Given the description of an element on the screen output the (x, y) to click on. 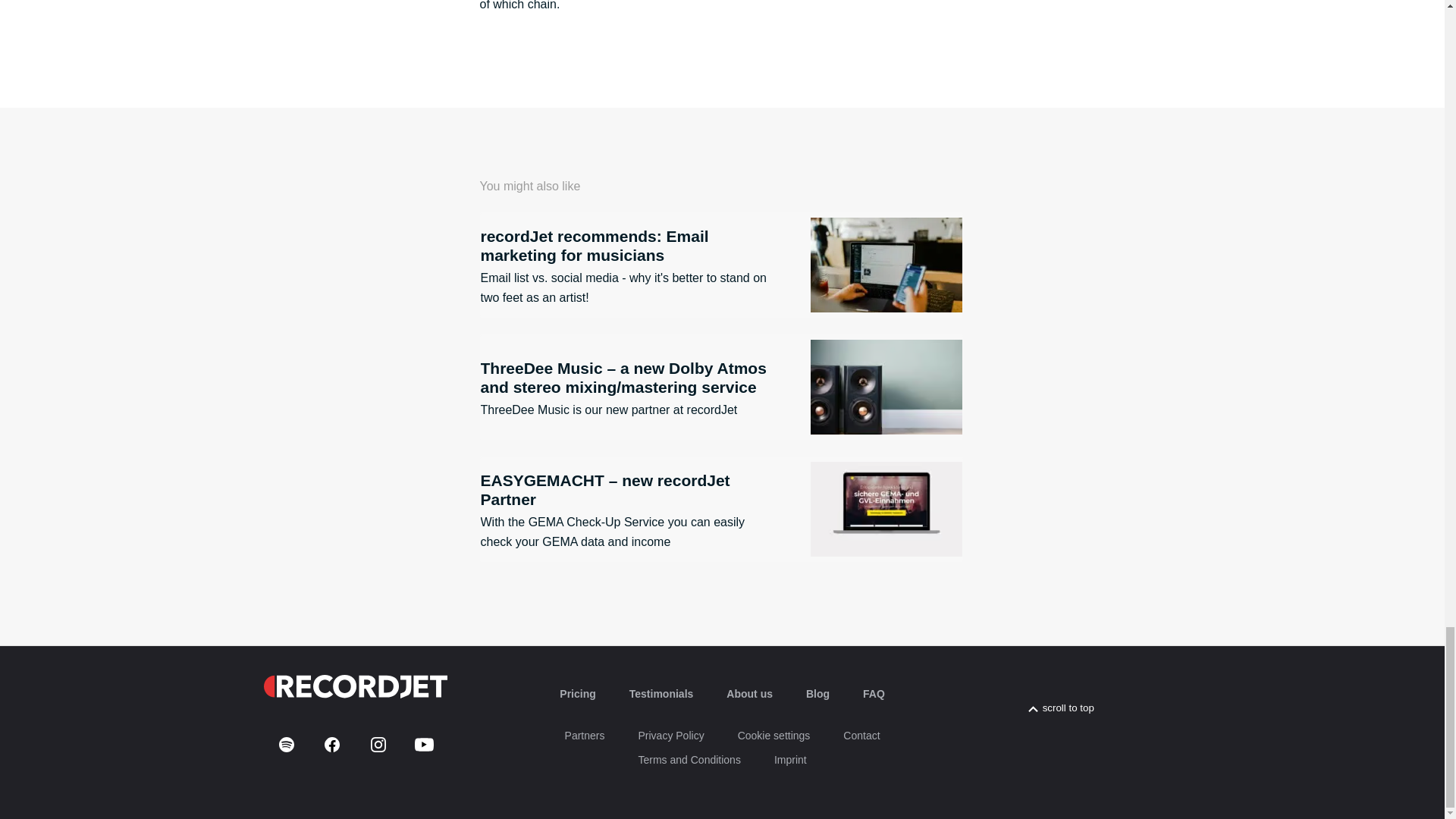
recordJet recommends: Email marketing for musicians (720, 264)
Design ohne Titel-4 (884, 386)
Pricing (577, 693)
Blog (817, 693)
Testimonials (661, 693)
austin-distel-gUIJ0YszPig-unsplash (884, 264)
FAQ (874, 693)
About us (749, 693)
Blog Banner for Website Content-2 (884, 508)
